Given the description of an element on the screen output the (x, y) to click on. 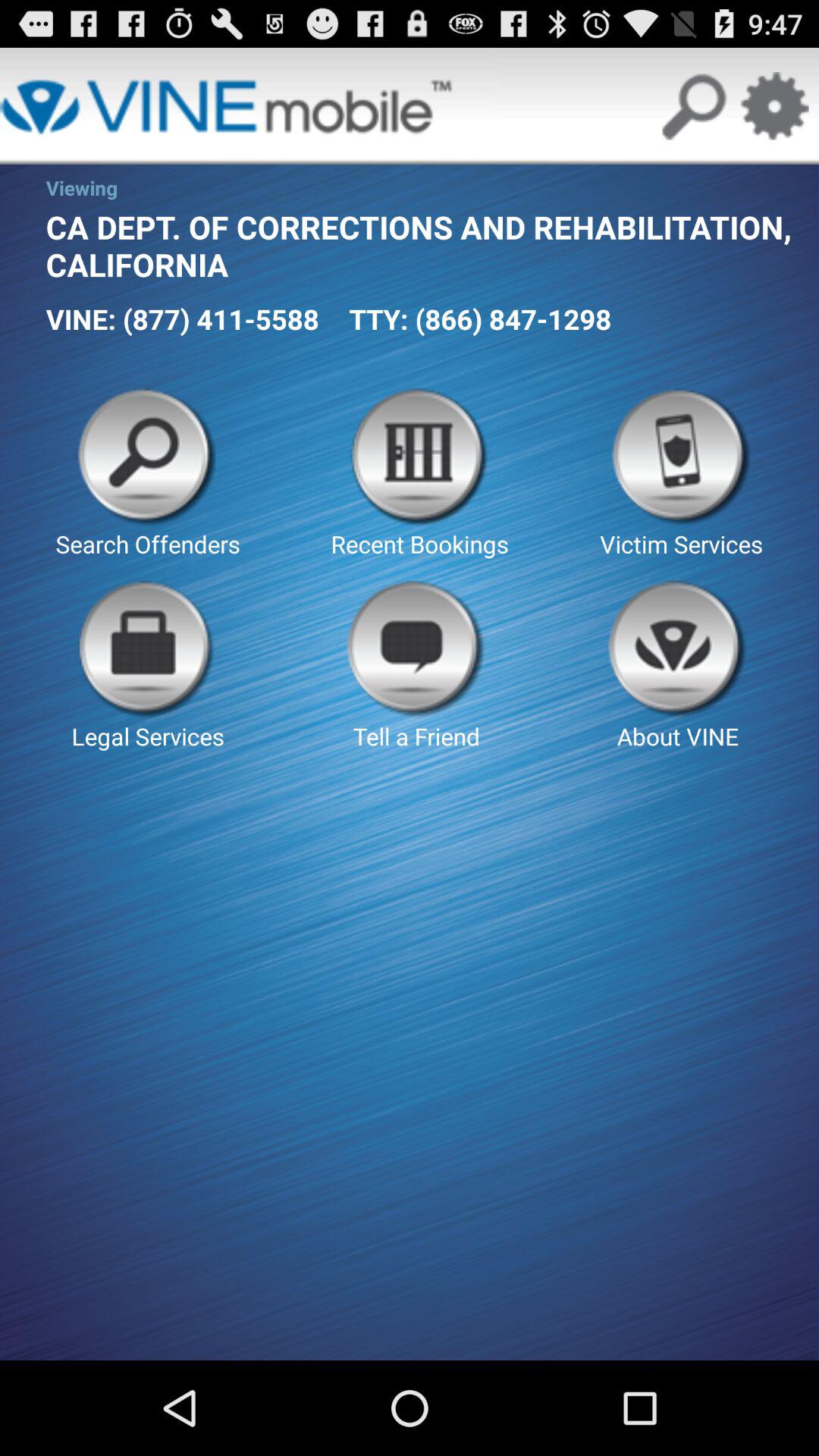
open the button to the left of tell a friend (147, 666)
